Given the description of an element on the screen output the (x, y) to click on. 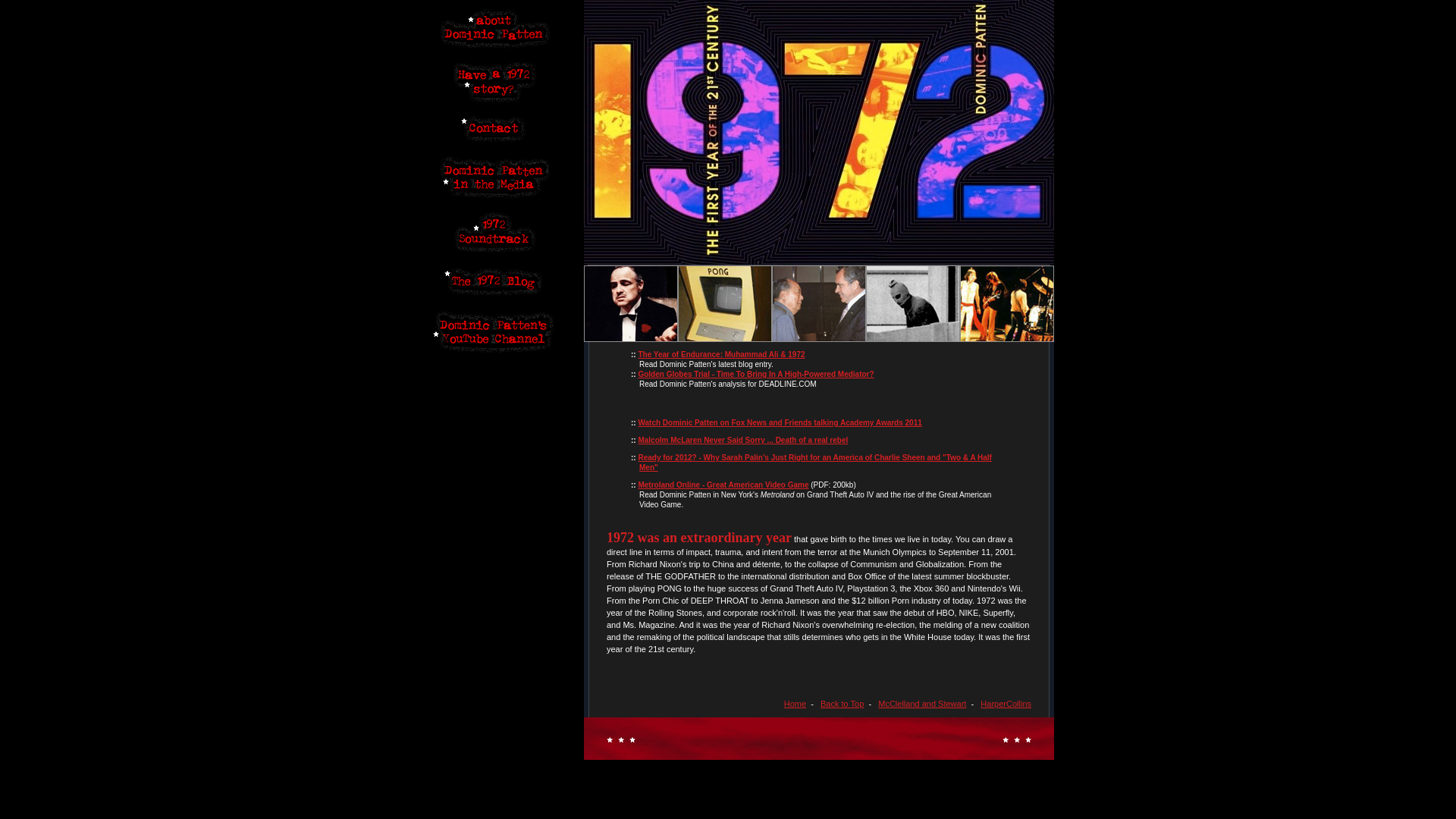
Malcolm McLaren Never Said Sorry ... Death of a real rebel Element type: text (742, 440)
McClelland and Stewart Element type: text (922, 703)
Back to Top Element type: text (841, 703)
HarperCollins Element type: text (1005, 703)
The Year of Endurance: Muhammad Ali & 1972 Element type: text (720, 354)
Metroland Online - Great American Video Game Element type: text (722, 484)
Home Element type: text (795, 703)
